Given the description of an element on the screen output the (x, y) to click on. 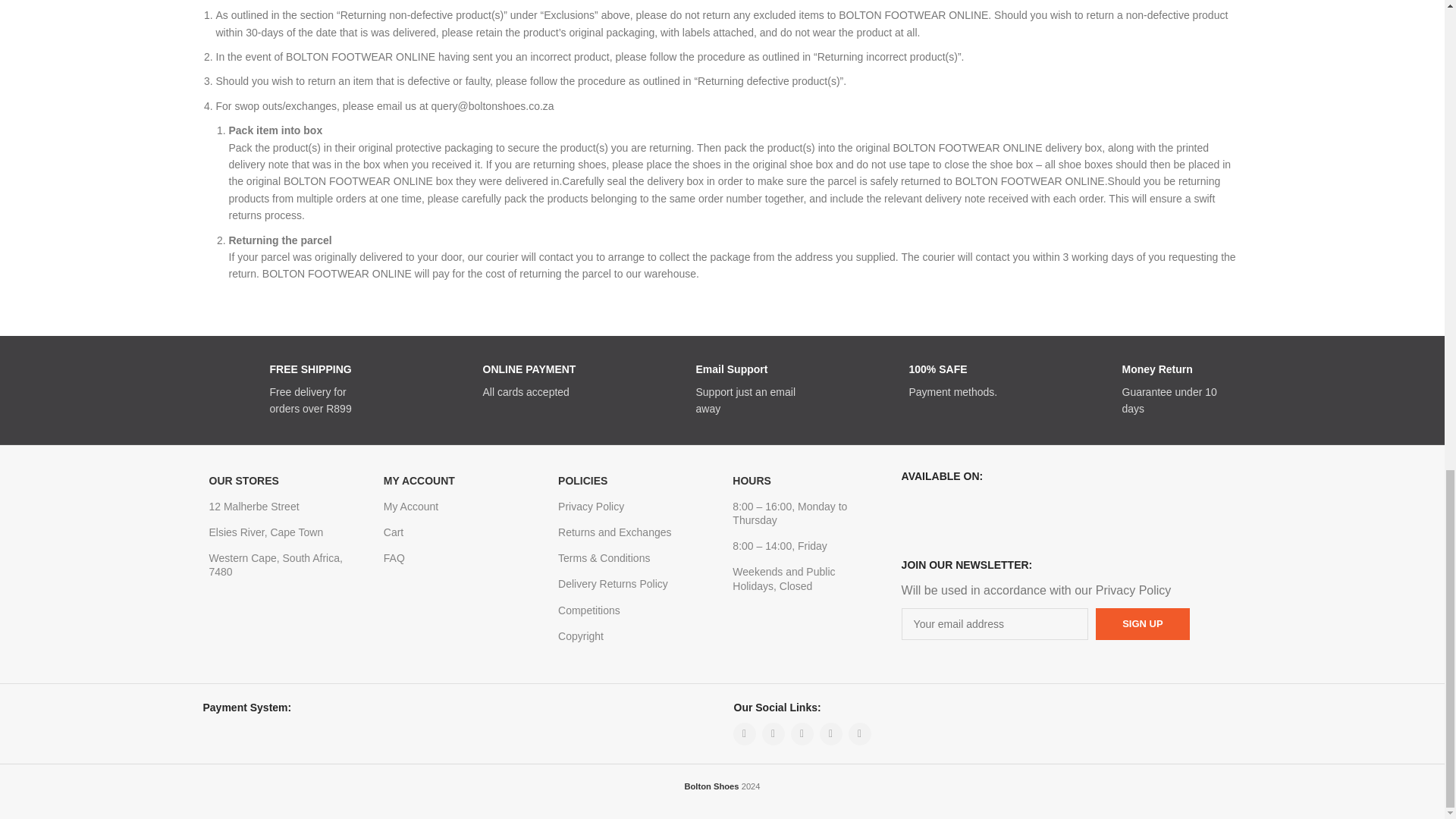
Sign up (1142, 623)
black-friday-shipping.svg (235, 381)
black-friday-safe.svg (874, 381)
black-friday-online-payment.svg (448, 381)
black-friday-support.svg (662, 381)
black-friday-return.svg (1087, 381)
